Given the description of an element on the screen output the (x, y) to click on. 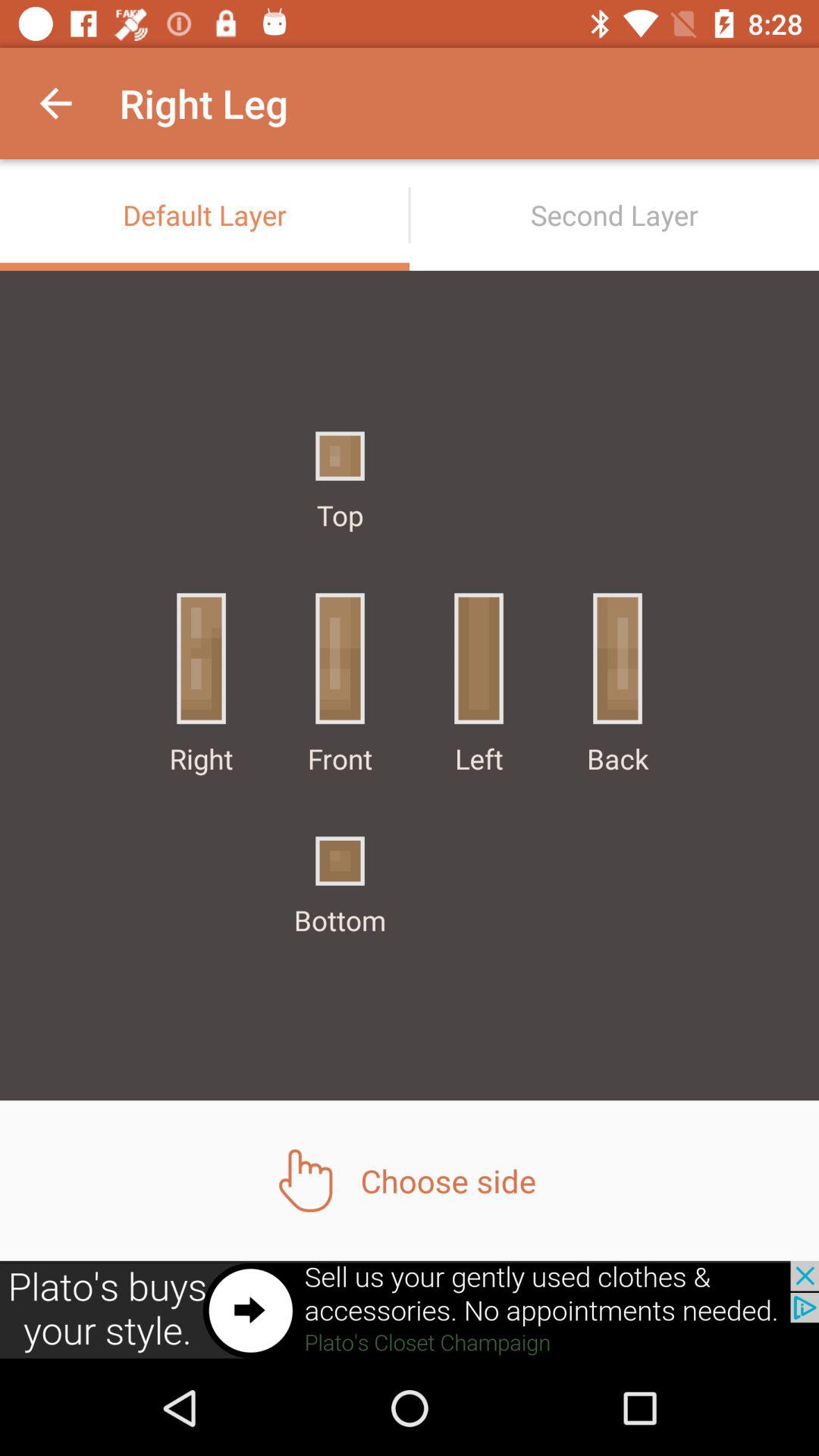
shows the advertisement tab (409, 1310)
